Given the description of an element on the screen output the (x, y) to click on. 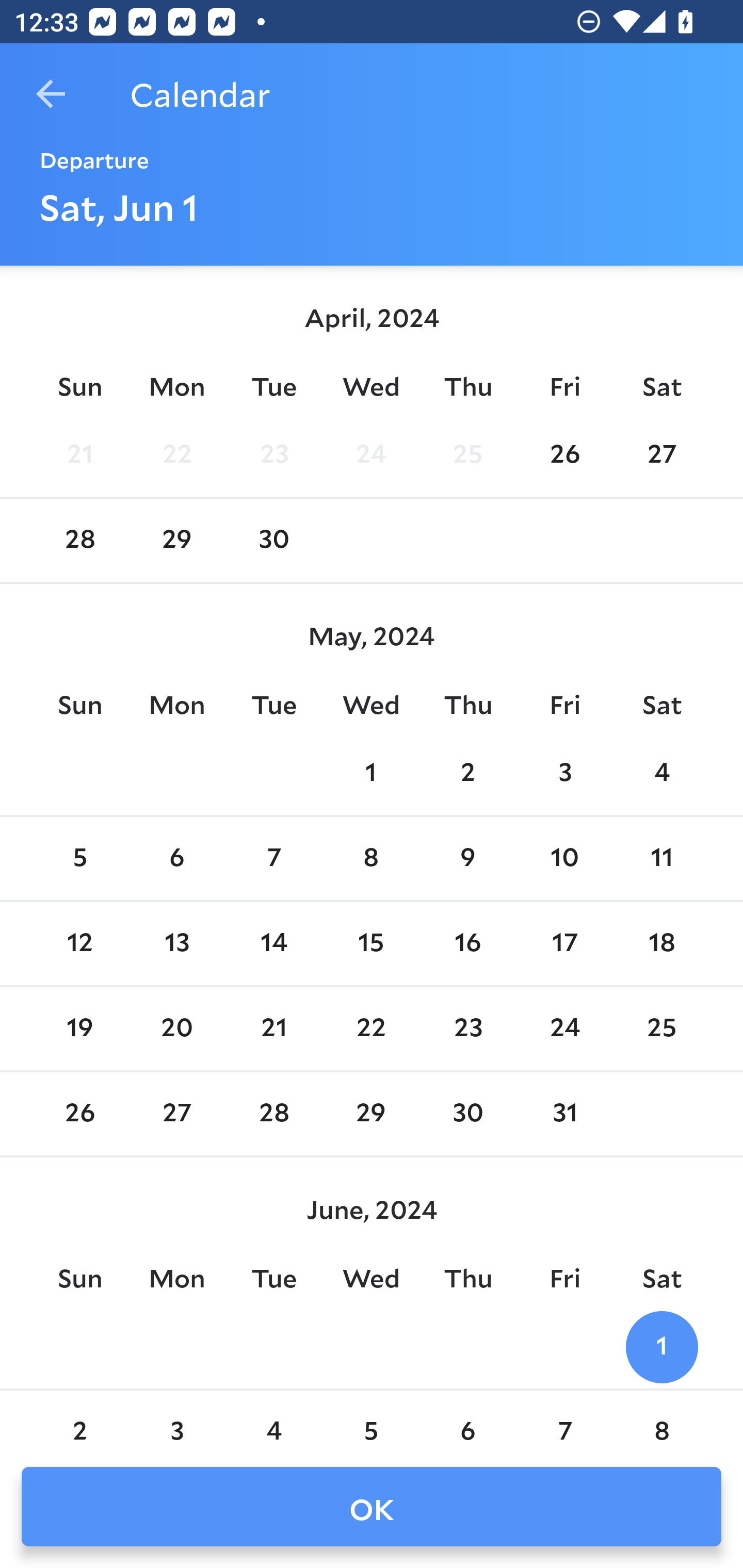
Navigate up (50, 93)
21 (79, 454)
22 (177, 454)
23 (273, 454)
24 (371, 454)
25 (467, 454)
26 (565, 454)
27 (661, 454)
28 (79, 540)
29 (177, 540)
30 (273, 540)
1 (371, 772)
2 (467, 772)
3 (565, 772)
4 (661, 772)
5 (79, 859)
6 (177, 859)
7 (273, 859)
8 (371, 859)
9 (467, 859)
10 (565, 859)
11 (661, 859)
12 (79, 943)
13 (177, 943)
14 (273, 943)
15 (371, 943)
16 (467, 943)
17 (565, 943)
18 (661, 943)
19 (79, 1028)
20 (177, 1028)
21 (273, 1028)
22 (371, 1028)
23 (467, 1028)
24 (565, 1028)
25 (661, 1028)
26 (79, 1114)
27 (177, 1114)
28 (273, 1114)
29 (371, 1114)
30 (467, 1114)
31 (565, 1114)
1 (661, 1346)
2 (79, 1420)
3 (177, 1420)
4 (273, 1420)
5 (371, 1420)
6 (467, 1420)
7 (565, 1420)
8 (661, 1420)
OK (371, 1506)
